Given the description of an element on the screen output the (x, y) to click on. 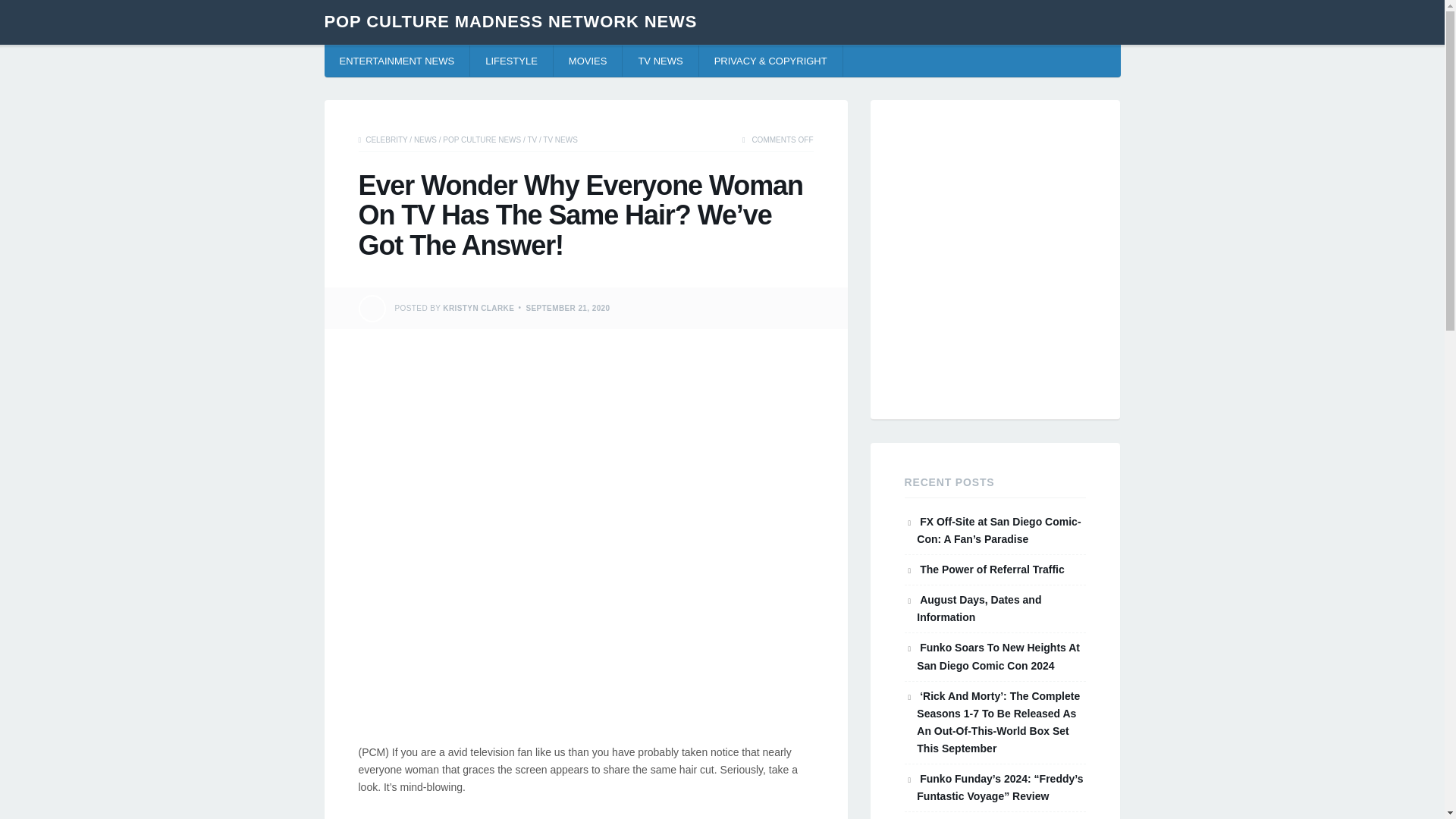
View all posts by Kristyn Clarke (477, 307)
POP CULTURE MADNESS NETWORK NEWS (510, 21)
NEWS (424, 139)
TV NEWS (560, 139)
LIFESTYLE (511, 60)
August Days, Dates and Information (979, 608)
CELEBRITY (386, 139)
SEPTEMBER 21, 2020 (567, 307)
The Power of Referral Traffic (992, 569)
TV NEWS (660, 60)
TV (532, 139)
MOVIES (588, 60)
ENTERTAINMENT NEWS (397, 60)
KRISTYN CLARKE (477, 307)
POP CULTURE NEWS (481, 139)
